Given the description of an element on the screen output the (x, y) to click on. 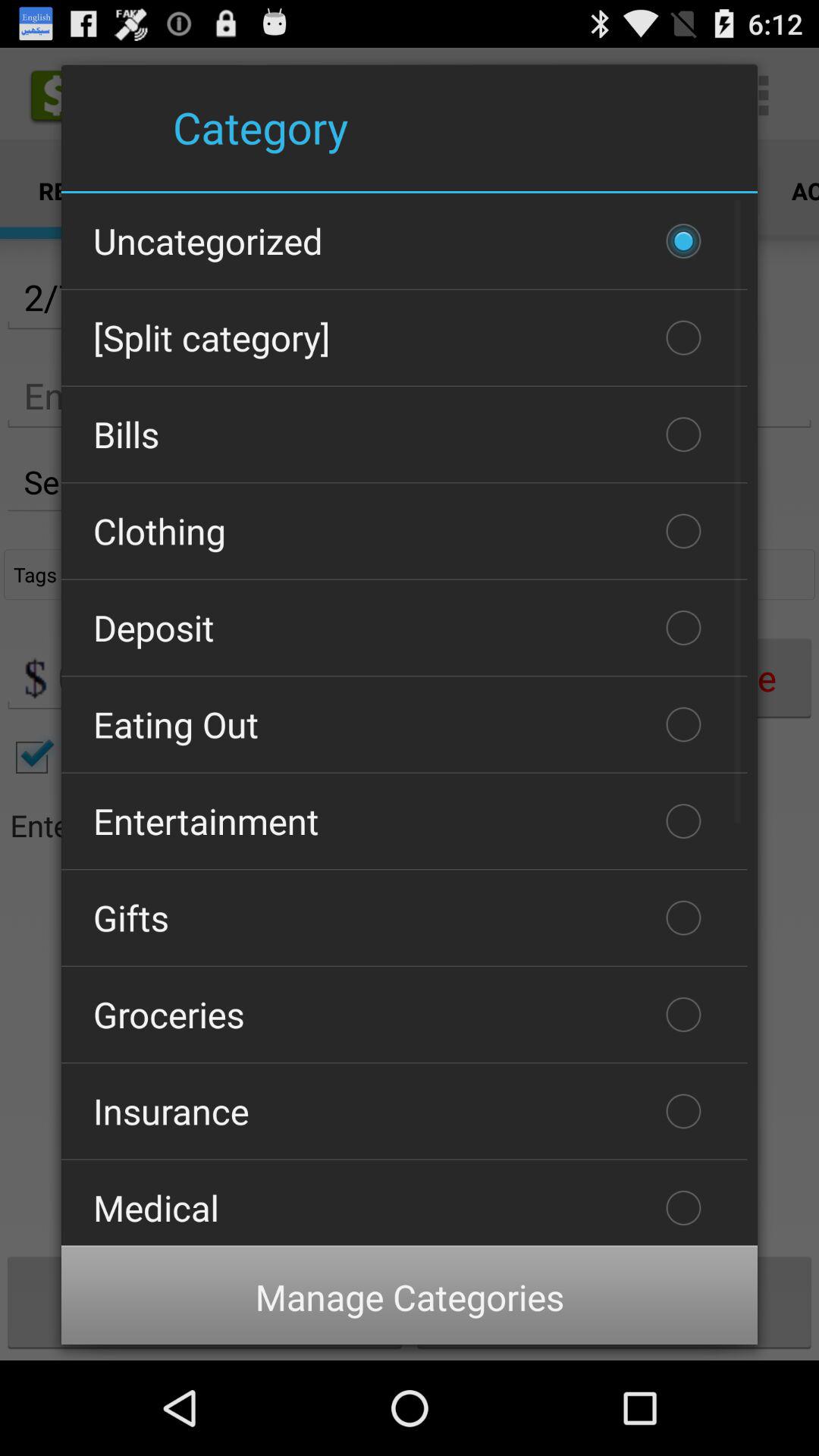
choose gifts item (404, 917)
